Given the description of an element on the screen output the (x, y) to click on. 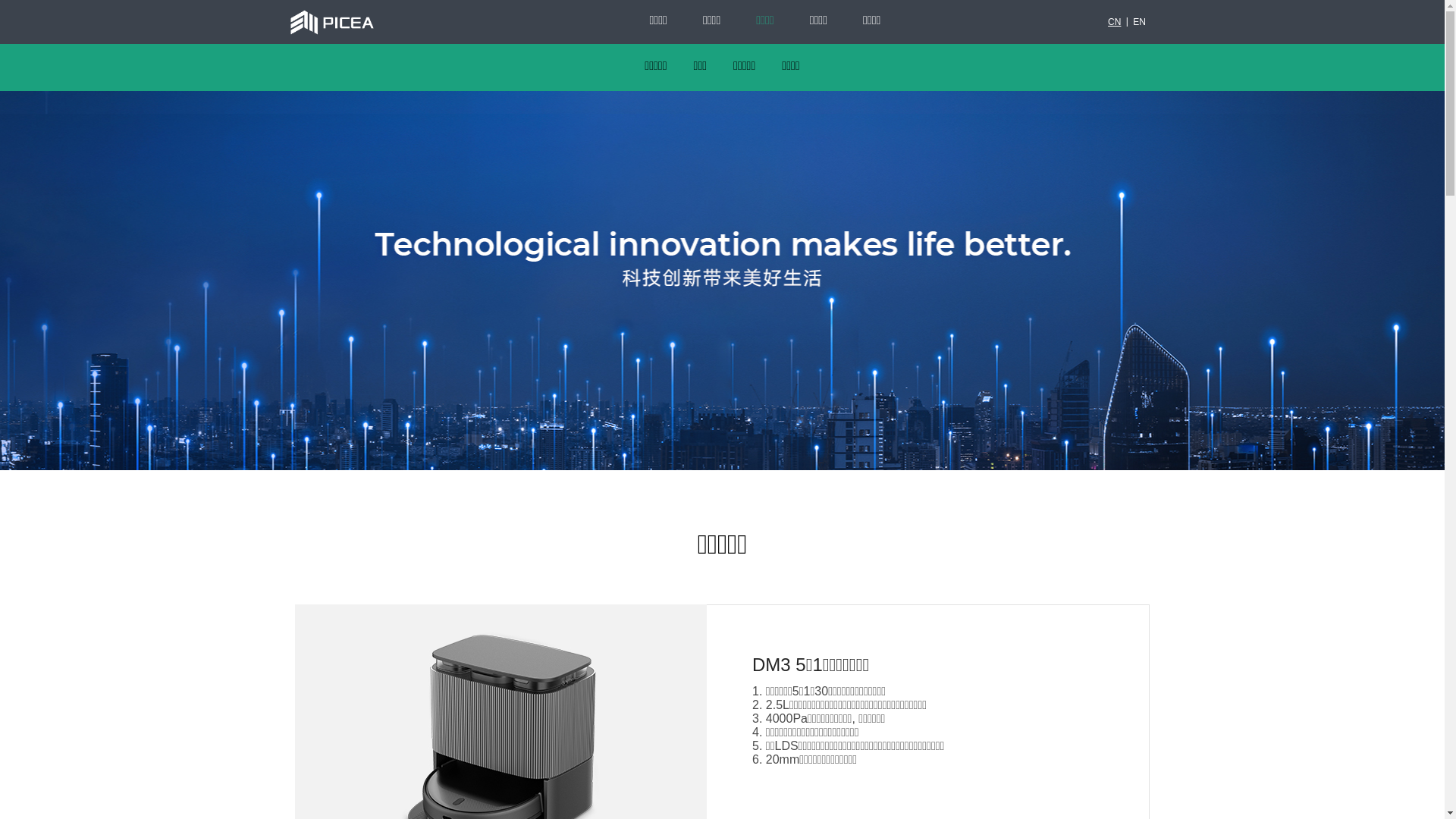
CN Element type: text (1113, 21)
EN Element type: text (1138, 21)
